Given the description of an element on the screen output the (x, y) to click on. 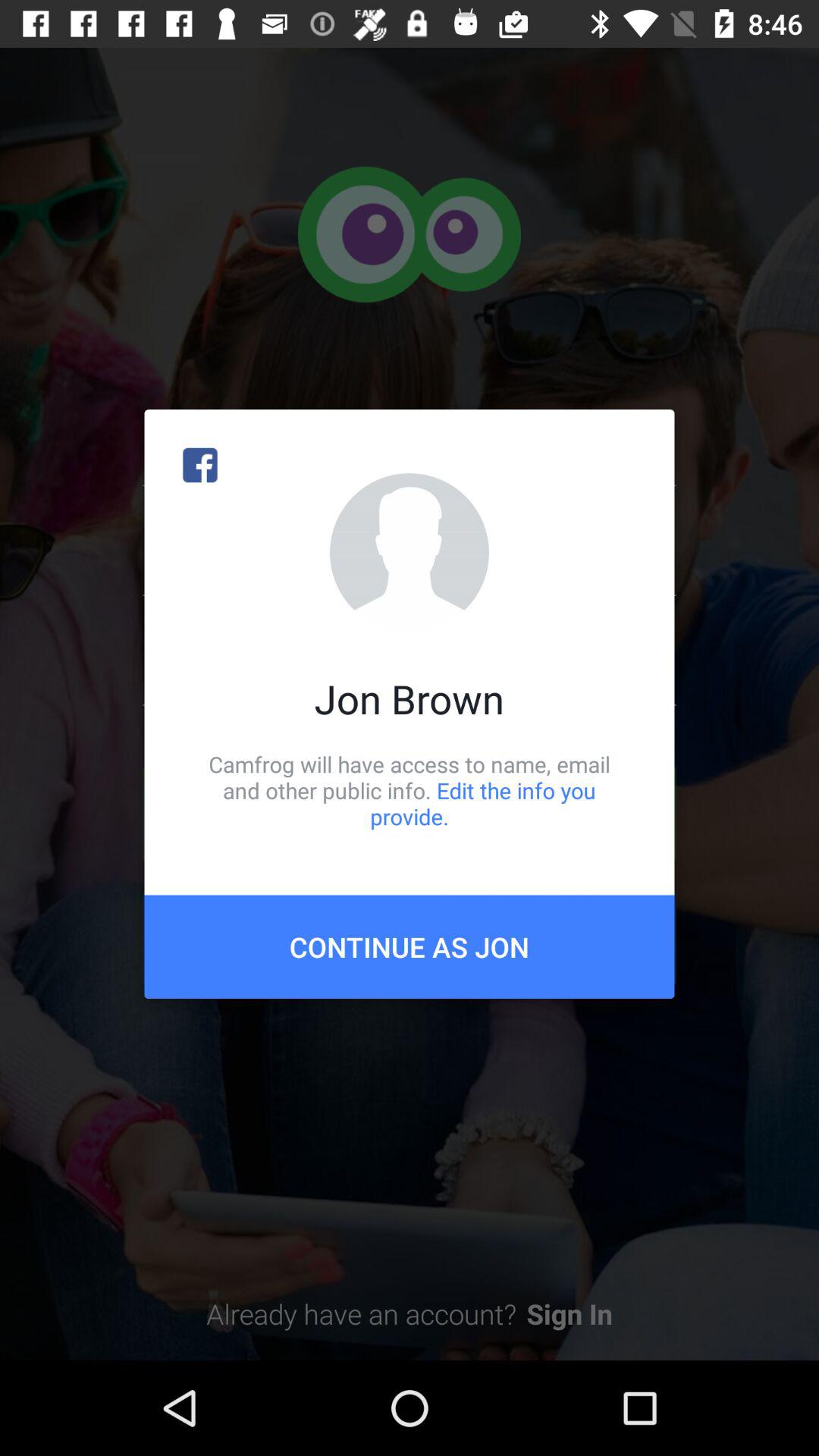
click item below the camfrog will have icon (409, 946)
